Given the description of an element on the screen output the (x, y) to click on. 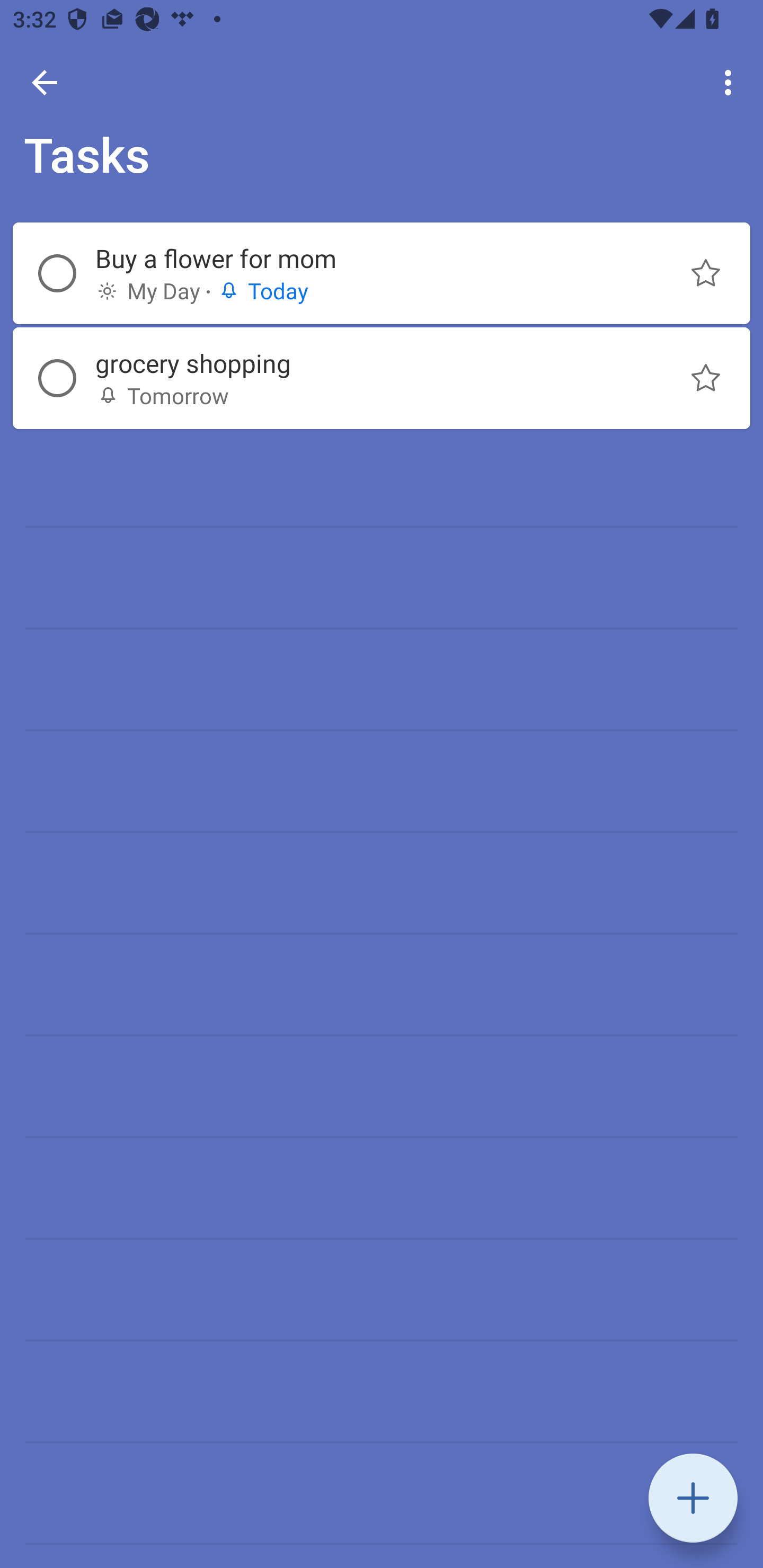
Add a task (692, 1497)
